Given the description of an element on the screen output the (x, y) to click on. 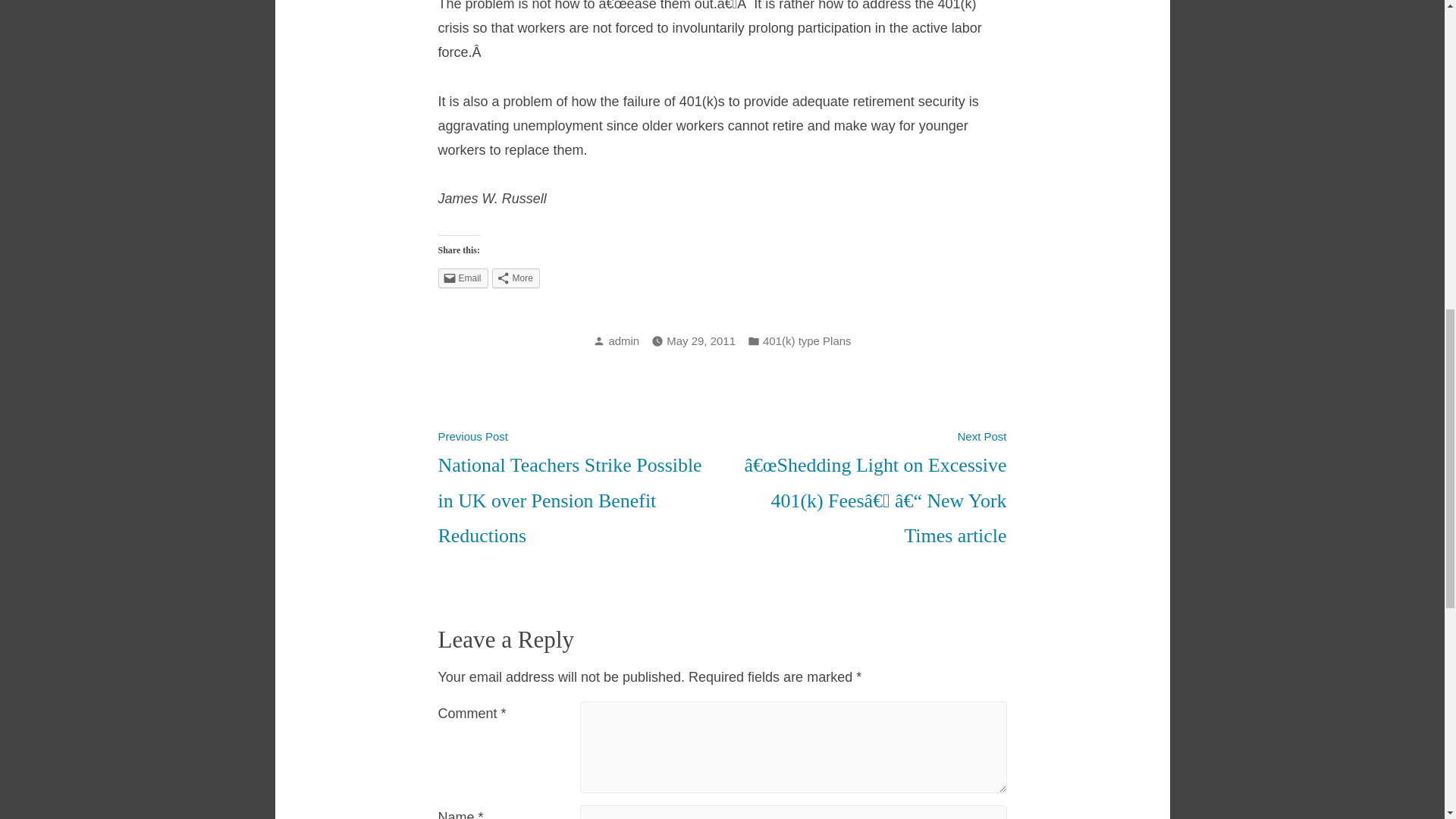
admin (623, 340)
May 29, 2011 (700, 341)
More (516, 278)
Email (462, 278)
Click to email this to a friend (462, 278)
